Given the description of an element on the screen output the (x, y) to click on. 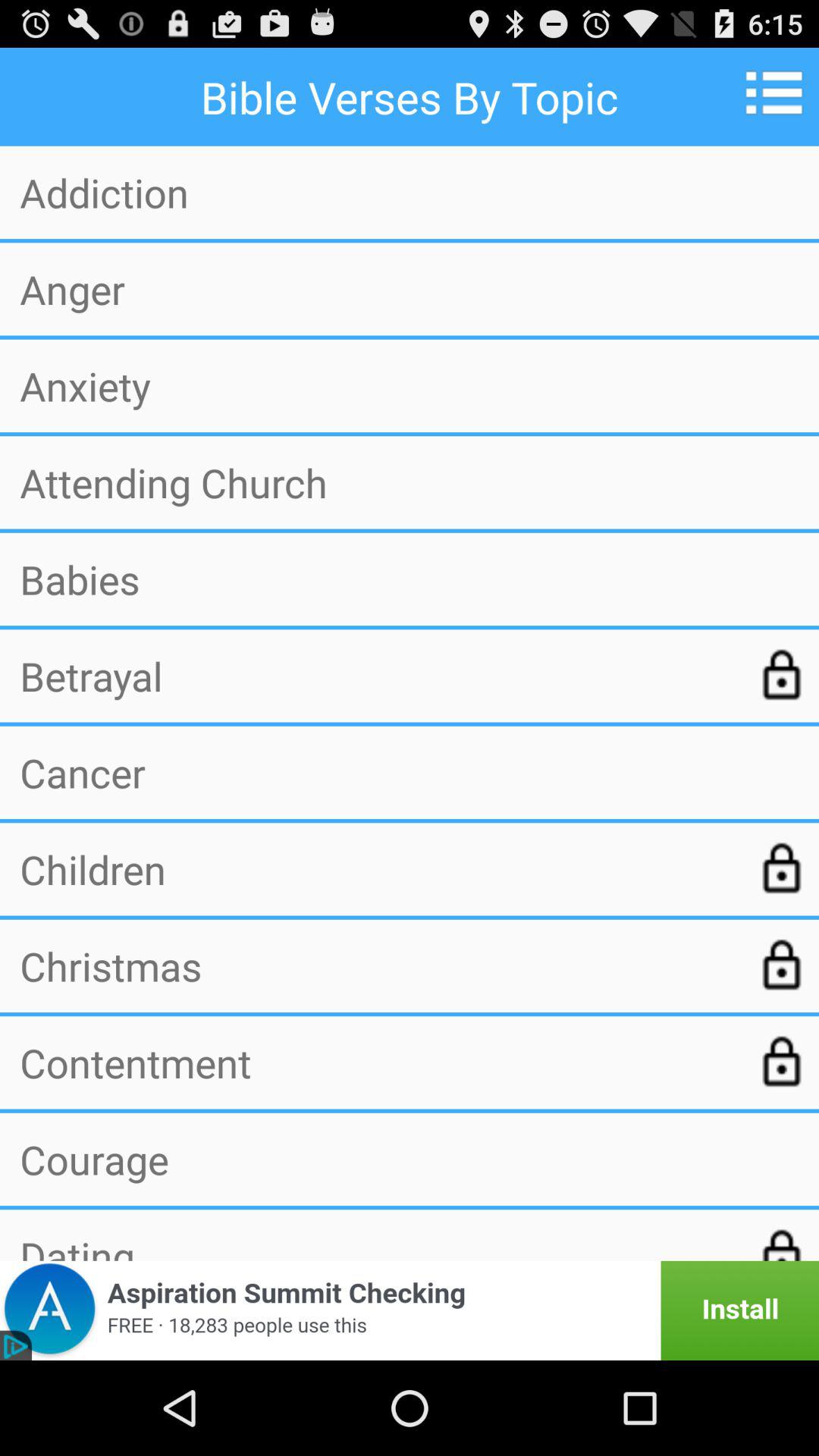
swipe to attending church icon (409, 482)
